Given the description of an element on the screen output the (x, y) to click on. 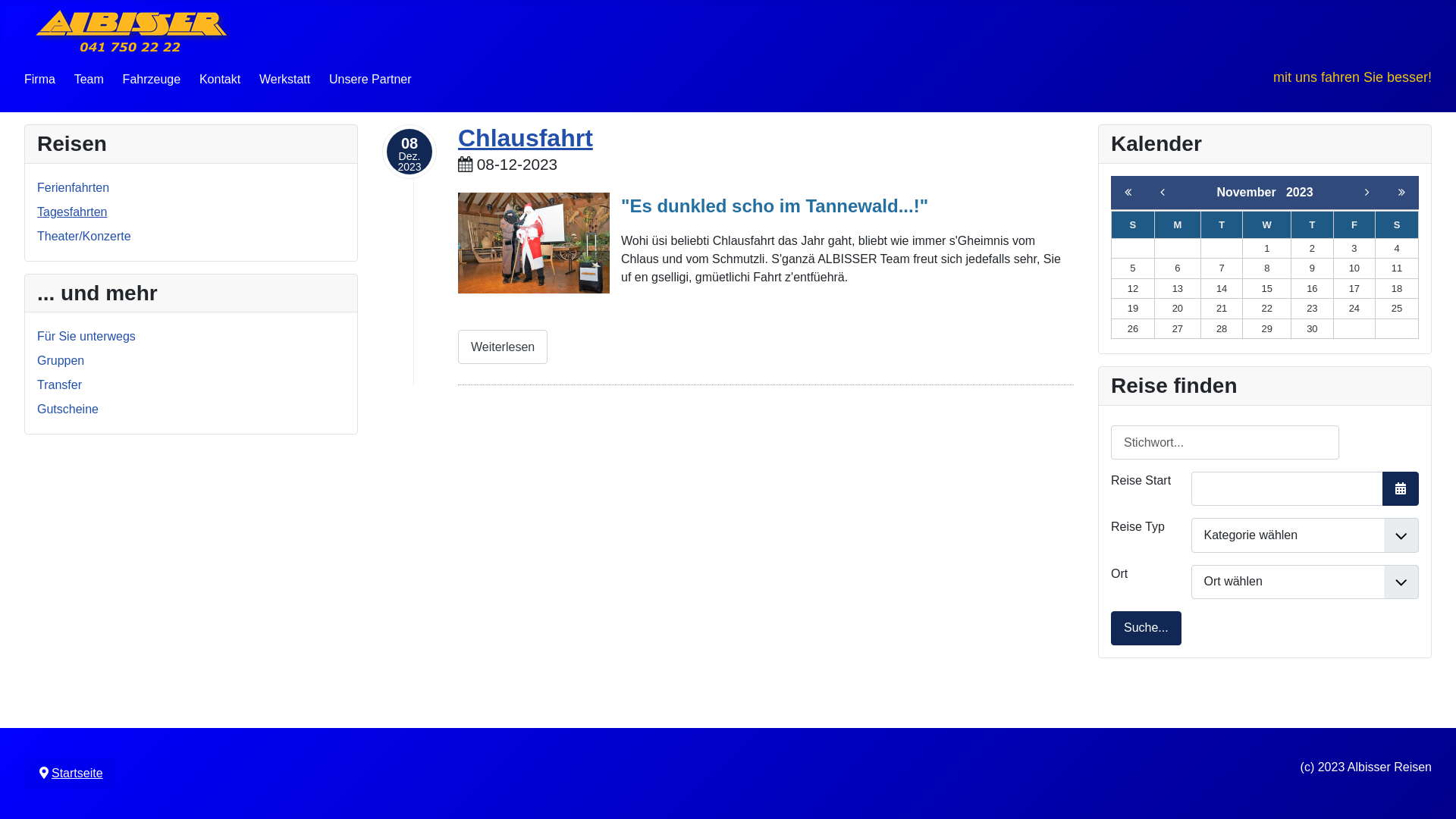
Firma Element type: text (39, 78)
Weiterlesen Element type: text (502, 346)
Tagesfahrten Element type: text (72, 211)
Startseite Element type: text (77, 772)
Team Element type: text (88, 78)
Fahrzeuge Element type: text (151, 78)
2023 Element type: text (1299, 191)
Werkstatt Element type: text (284, 78)
Gruppen Element type: text (60, 360)
Ferienfahrten Element type: text (73, 187)
November   Element type: text (1251, 191)
Suche... Element type: text (1145, 628)
Kontakt Element type: text (219, 78)
Theater/Konzerte Element type: text (84, 235)
Unsere Partner Element type: text (370, 78)
Gutscheine Element type: text (67, 408)
Transfer Element type: text (59, 384)
Chlausfahrt Element type: text (525, 137)
